Given the description of an element on the screen output the (x, y) to click on. 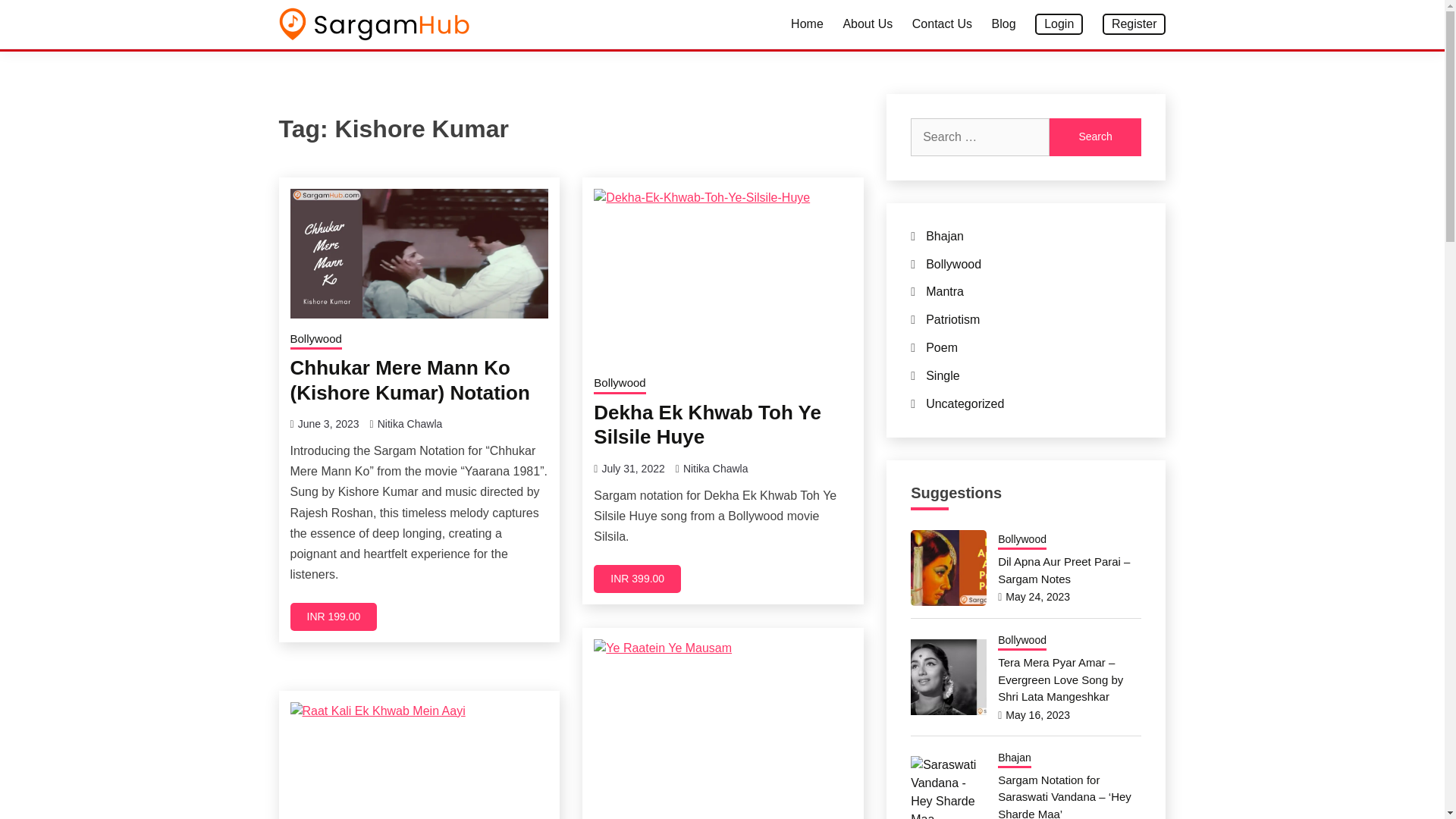
Nitika Chawla (715, 468)
INR 399.00 (637, 578)
Nitika Chawla (409, 423)
Contact Us (942, 24)
Register (1134, 24)
INR 199.00 (333, 616)
Login (1058, 24)
July 31, 2022 (632, 468)
Search (832, 18)
Home (807, 24)
Dekha Ek Khwab Toh Ye Silsile Huye (707, 424)
June 3, 2023 (328, 423)
Blog (1003, 24)
Bollywood (314, 340)
About Us (867, 24)
